Given the description of an element on the screen output the (x, y) to click on. 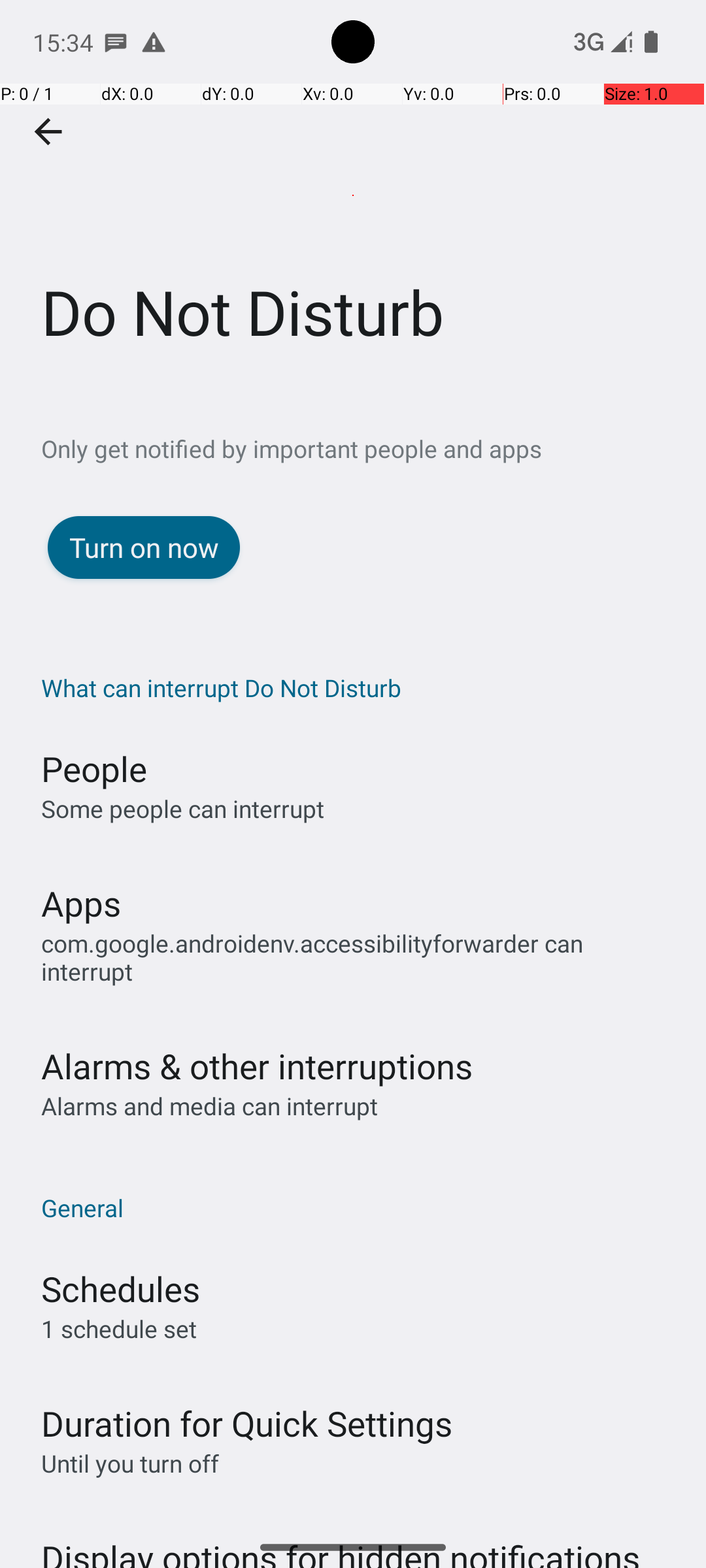
Do Not Disturb Element type: android.widget.FrameLayout (353, 195)
Only get notified by important people and apps Element type: android.widget.TextView (373, 448)
Turn on now Element type: android.widget.Button (143, 547)
What can interrupt Do Not Disturb Element type: android.widget.TextView (359, 687)
People Element type: android.widget.TextView (94, 768)
Some people can interrupt Element type: android.widget.TextView (182, 808)
com.google.androidenv.accessibilityforwarder can interrupt Element type: android.widget.TextView (359, 956)
Alarms & other interruptions Element type: android.widget.TextView (256, 1037)
Alarms and media can interrupt Element type: android.widget.TextView (209, 1077)
Schedules Element type: android.widget.TextView (120, 1260)
1 schedule set Element type: android.widget.TextView (118, 1300)
Duration for Quick Settings Element type: android.widget.TextView (246, 1395)
Until you turn off Element type: android.widget.TextView (129, 1434)
Display options for hidden notifications Element type: android.widget.TextView (340, 1516)
